Given the description of an element on the screen output the (x, y) to click on. 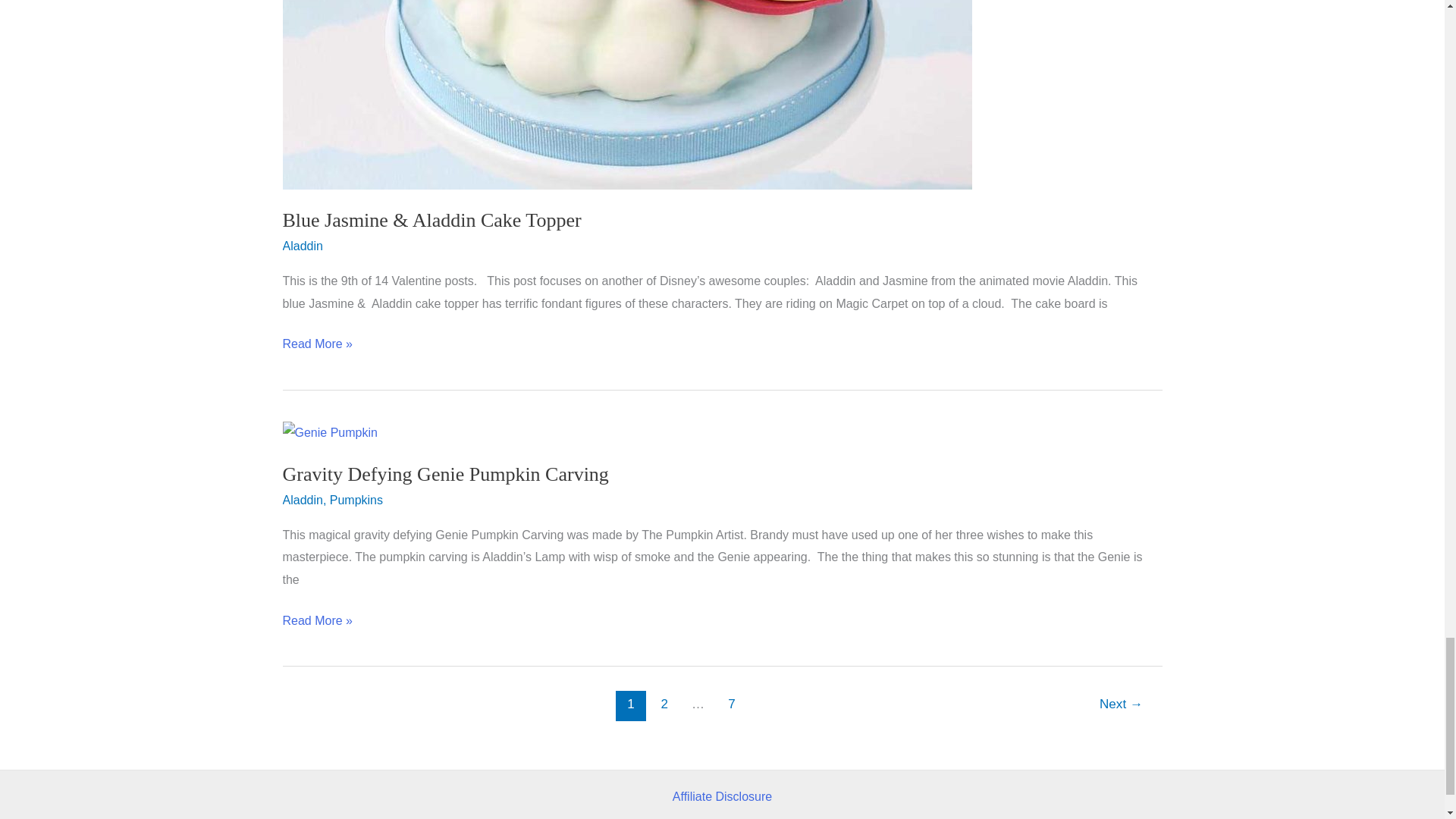
2 (664, 706)
7 (731, 706)
Aladdin (301, 499)
Affiliate Disclosure (721, 796)
Aladdin (301, 245)
Pumpkins (356, 499)
Gravity Defying Genie Pumpkin Carving (445, 474)
